Given the description of an element on the screen output the (x, y) to click on. 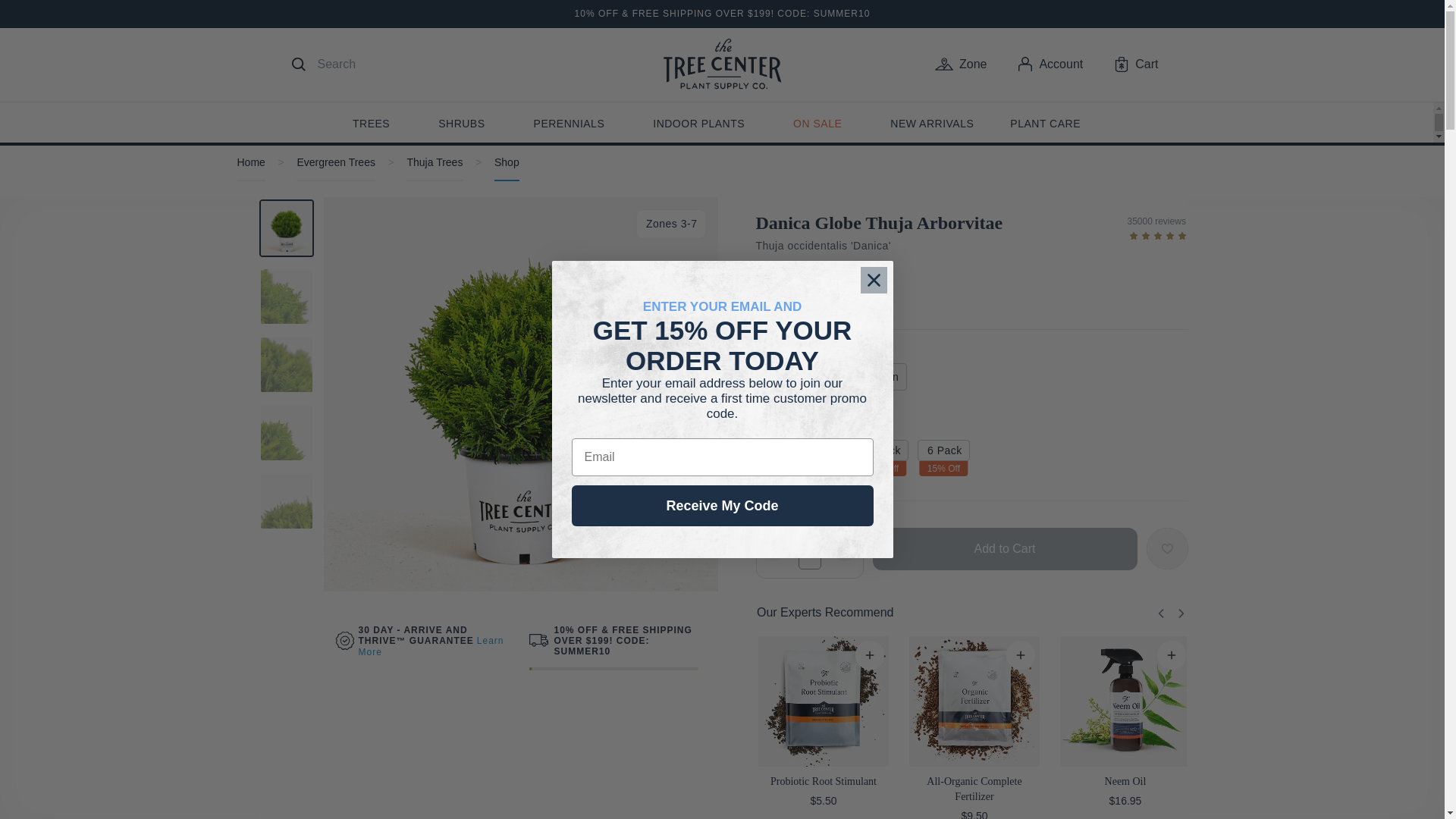
TREES (370, 125)
Cart (1135, 64)
0 (880, 654)
0 (1032, 654)
0 (1182, 654)
Zone (960, 64)
Account (1049, 64)
